Given the description of an element on the screen output the (x, y) to click on. 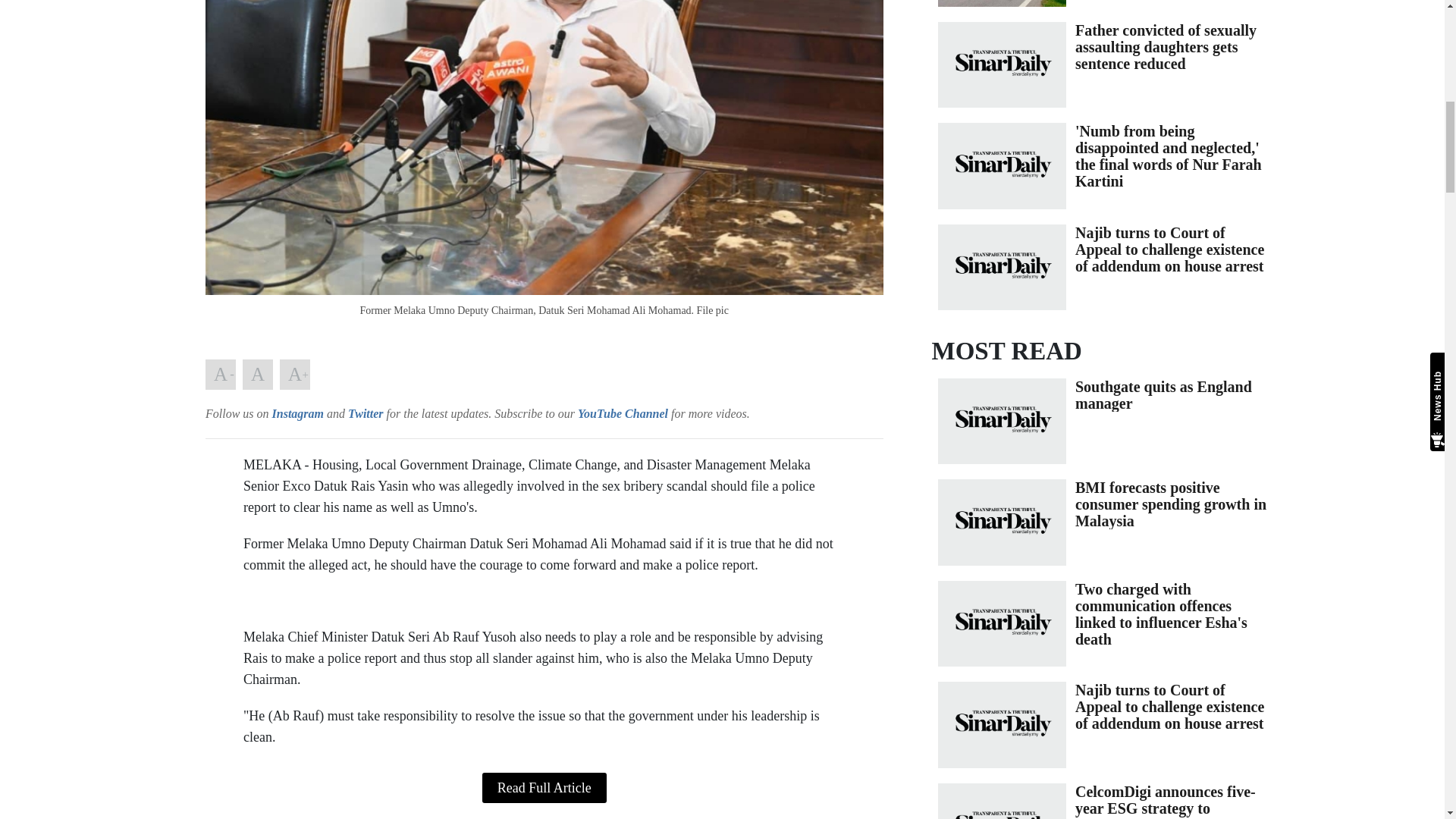
Teks Kecil (220, 374)
Teks Besar (294, 374)
Teks Asal (258, 374)
